Given the description of an element on the screen output the (x, y) to click on. 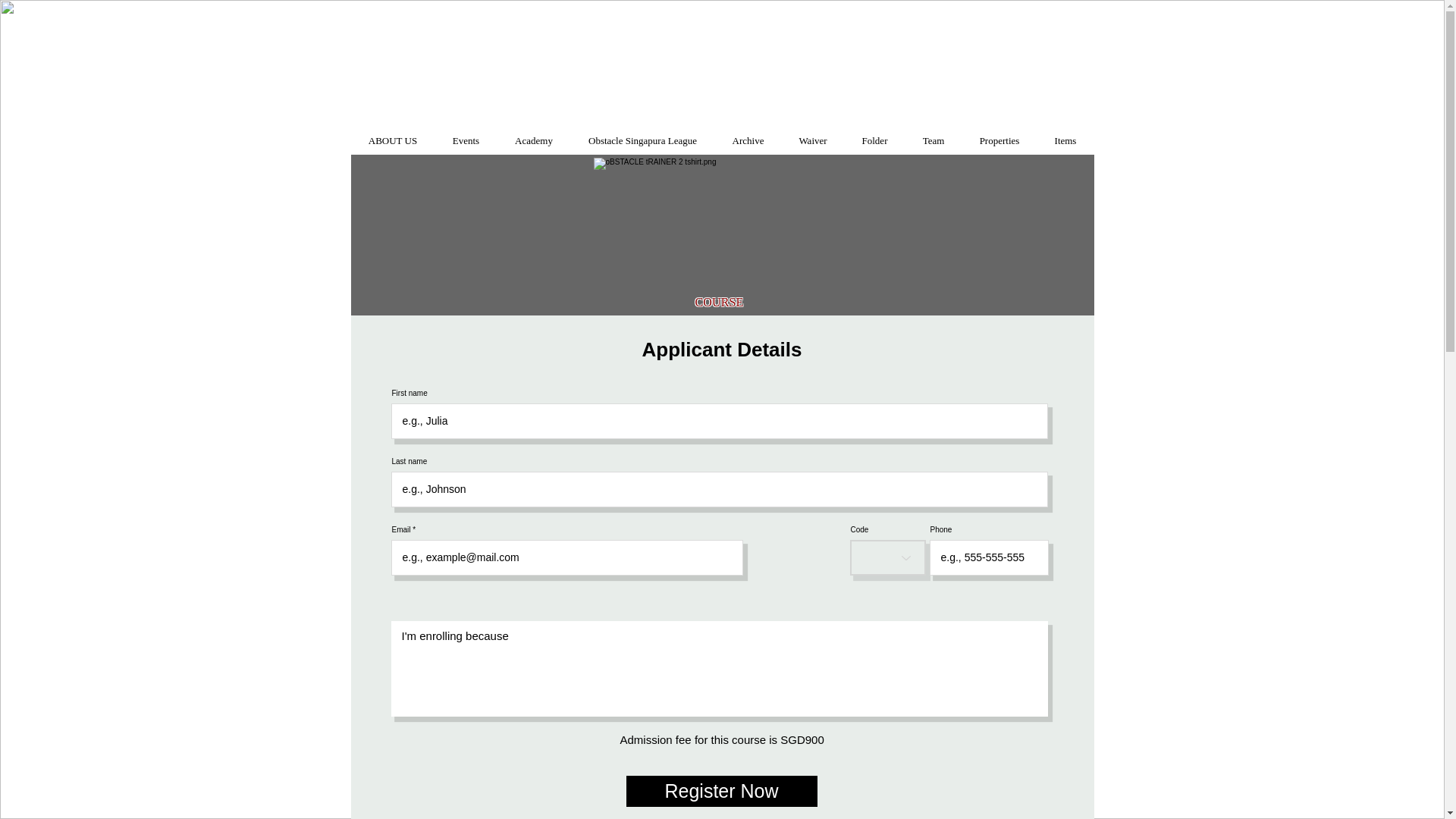
Academy (533, 134)
Waiver (812, 134)
Properties (998, 134)
Obstacle Singapura League (642, 134)
Events (466, 134)
Archive (747, 134)
Register Now (721, 790)
Team (933, 134)
Items (1065, 134)
ABOUT US (391, 134)
